Given the description of an element on the screen output the (x, y) to click on. 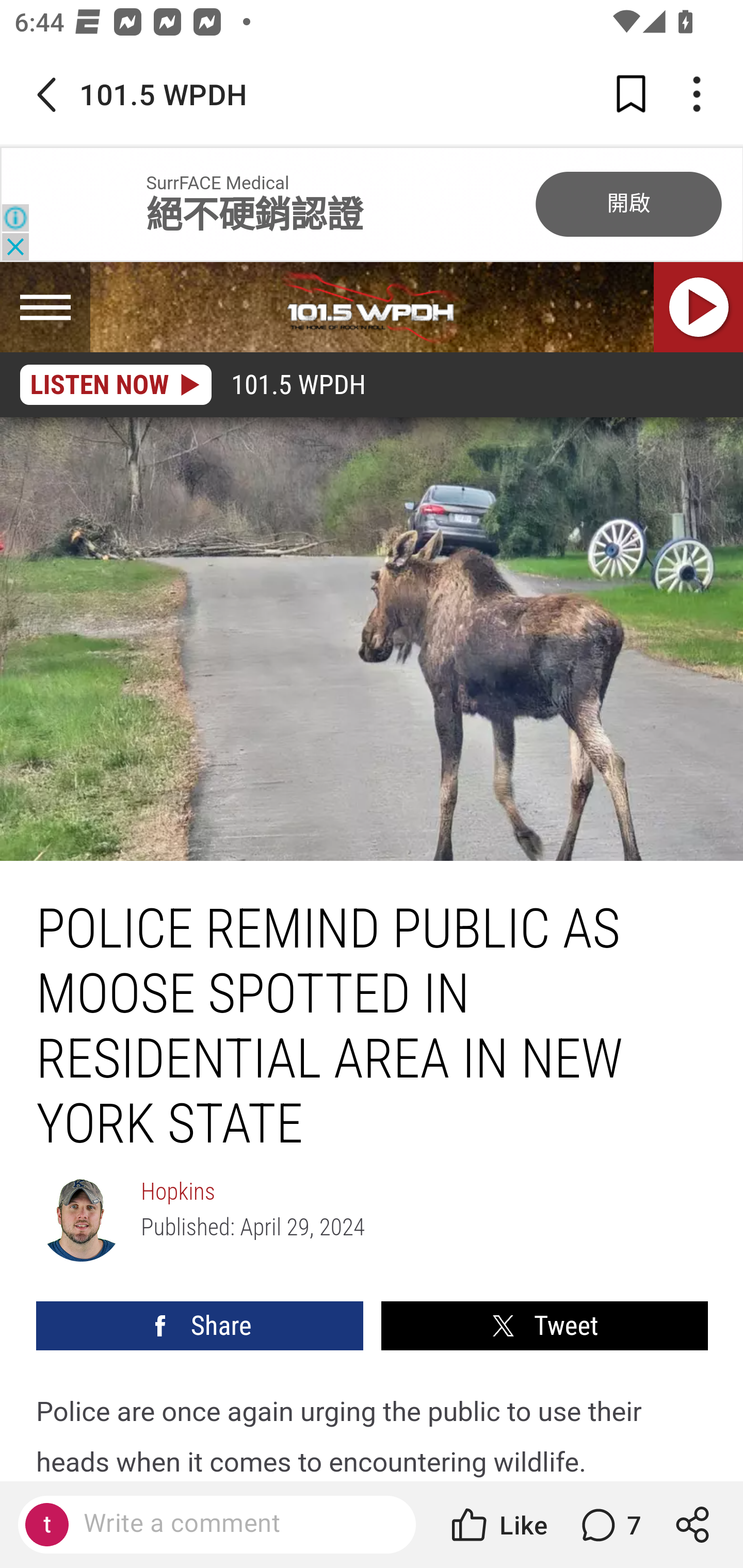
Like (497, 1524)
7 (608, 1524)
Write a comment (234, 1523)
